Given the description of an element on the screen output the (x, y) to click on. 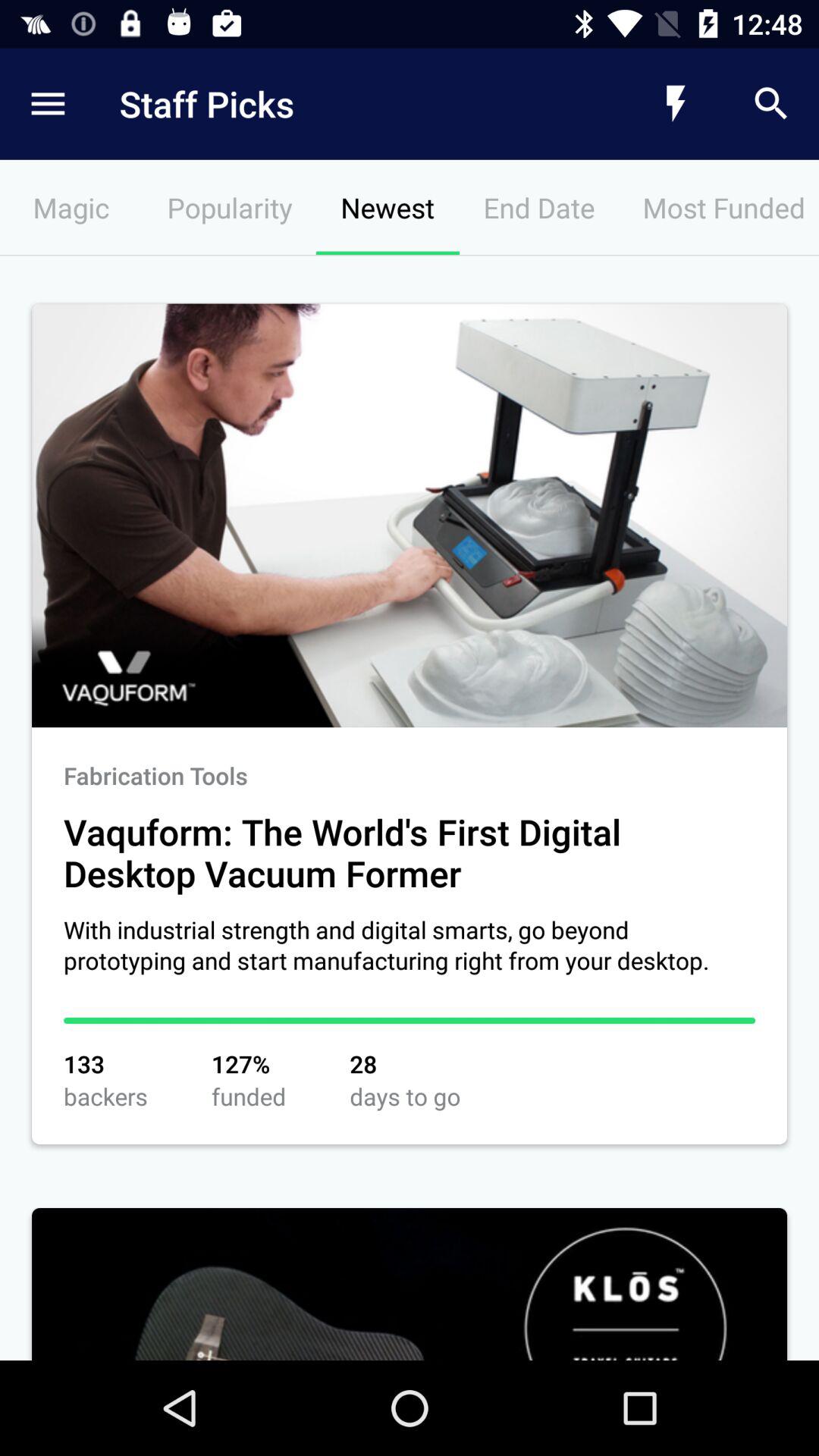
select the first image on the web page (409, 515)
